Given the description of an element on the screen output the (x, y) to click on. 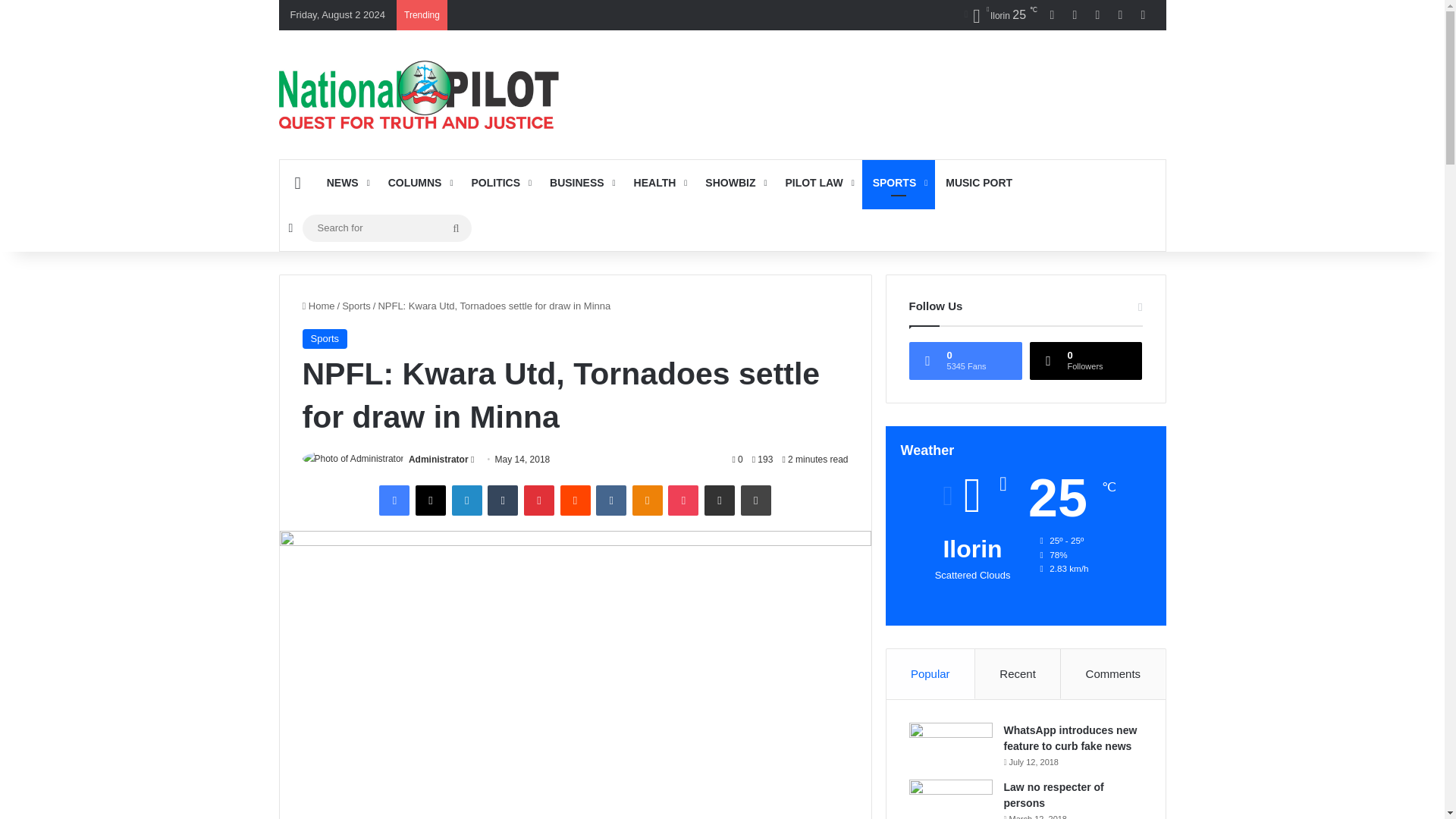
Administrator (438, 459)
Tumblr (502, 500)
Search for (385, 227)
National Pilot Newspaper (419, 94)
Facebook (393, 500)
COLUMNS (419, 182)
Scattered Clouds (999, 15)
NEWS (346, 182)
X (429, 500)
Pinterest (539, 500)
Reddit (574, 500)
LinkedIn (466, 500)
